Given the description of an element on the screen output the (x, y) to click on. 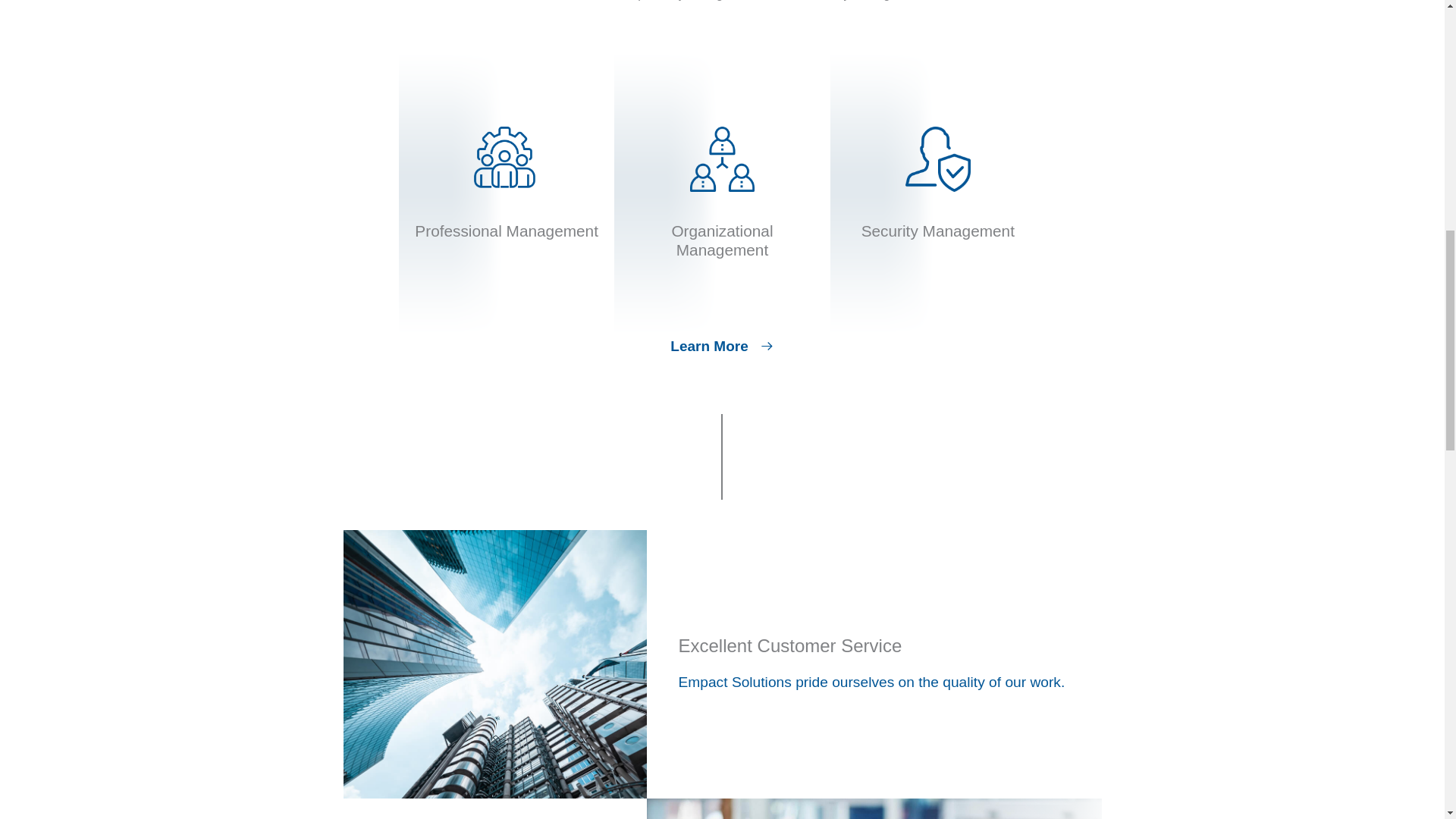
Professional Management (506, 230)
Learn More (721, 347)
management Empact Solutions Inc (506, 158)
Security Management (937, 230)
Organizational Management (722, 239)
